Given the description of an element on the screen output the (x, y) to click on. 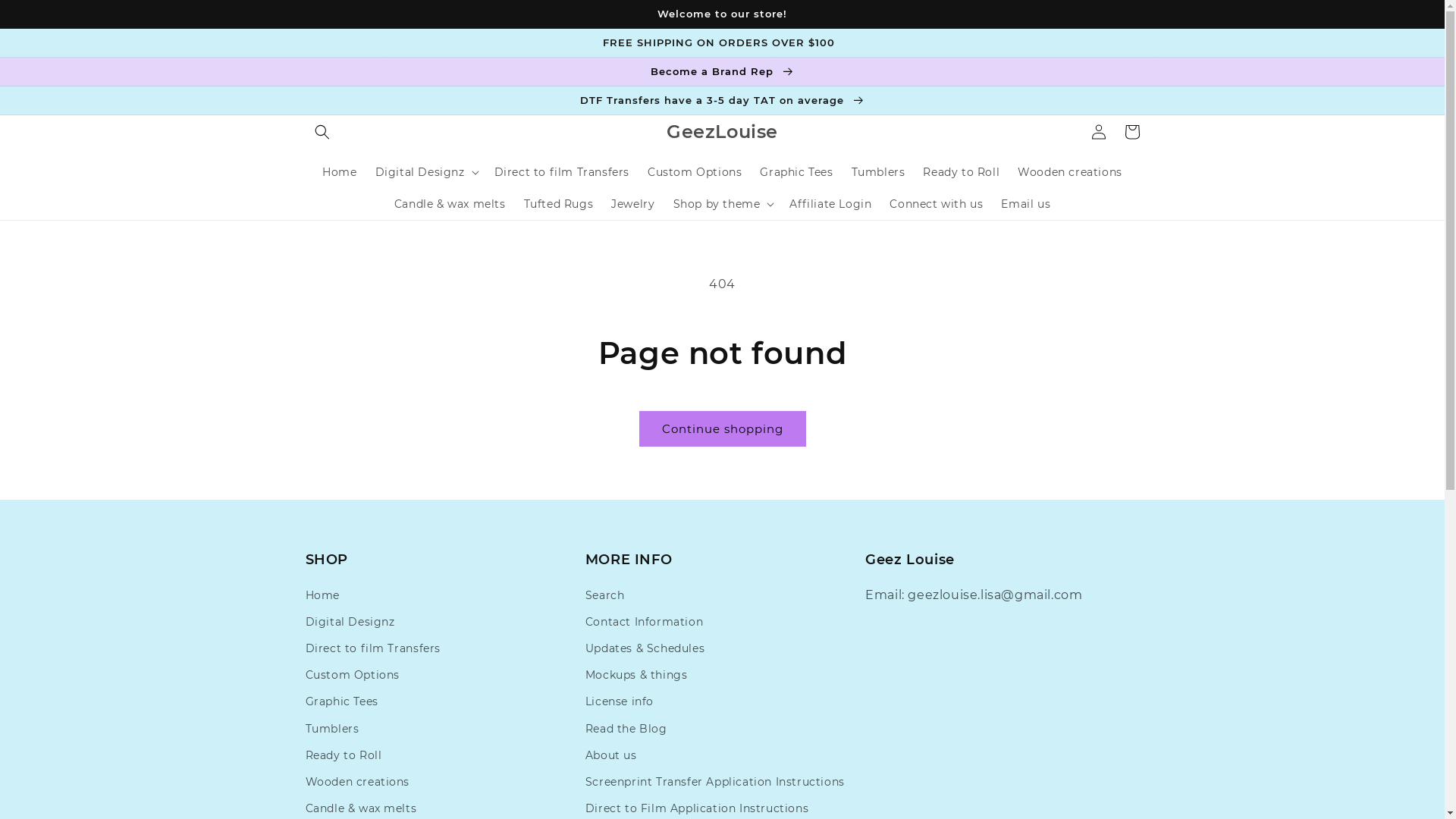
Screenprint Transfer Application Instructions Element type: text (714, 781)
Wooden creations Element type: text (1069, 172)
Digital Designz Element type: text (349, 621)
Graphic Tees Element type: text (795, 172)
Mockups & things Element type: text (636, 675)
Home Element type: text (321, 597)
Read the Blog Element type: text (626, 728)
Affiliate Login Element type: text (830, 203)
Contact Information Element type: text (643, 621)
Become a Brand Rep Element type: text (722, 71)
Log in Element type: text (1097, 131)
About us Element type: text (611, 755)
Continue shopping Element type: text (721, 428)
Tufted Rugs Element type: text (558, 203)
Search Element type: text (604, 597)
Tumblers Element type: text (331, 728)
Cart Element type: text (1131, 131)
Ready to Roll Element type: text (342, 755)
Custom Options Element type: text (351, 675)
Wooden creations Element type: text (356, 781)
Home Element type: text (339, 172)
Custom Options Element type: text (694, 172)
Ready to Roll Element type: text (960, 172)
License info Element type: text (619, 701)
Email us Element type: text (1025, 203)
Candle & wax melts Element type: text (449, 203)
Updates & Schedules Element type: text (644, 648)
DTF Transfers have a 3-5 day TAT on average Element type: text (722, 100)
Graphic Tees Element type: text (340, 701)
GeezLouise Element type: text (722, 131)
Jewelry Element type: text (632, 203)
Tumblers Element type: text (878, 172)
Direct to film Transfers Element type: text (371, 648)
Direct to film Transfers Element type: text (561, 172)
Connect with us Element type: text (935, 203)
